Given the description of an element on the screen output the (x, y) to click on. 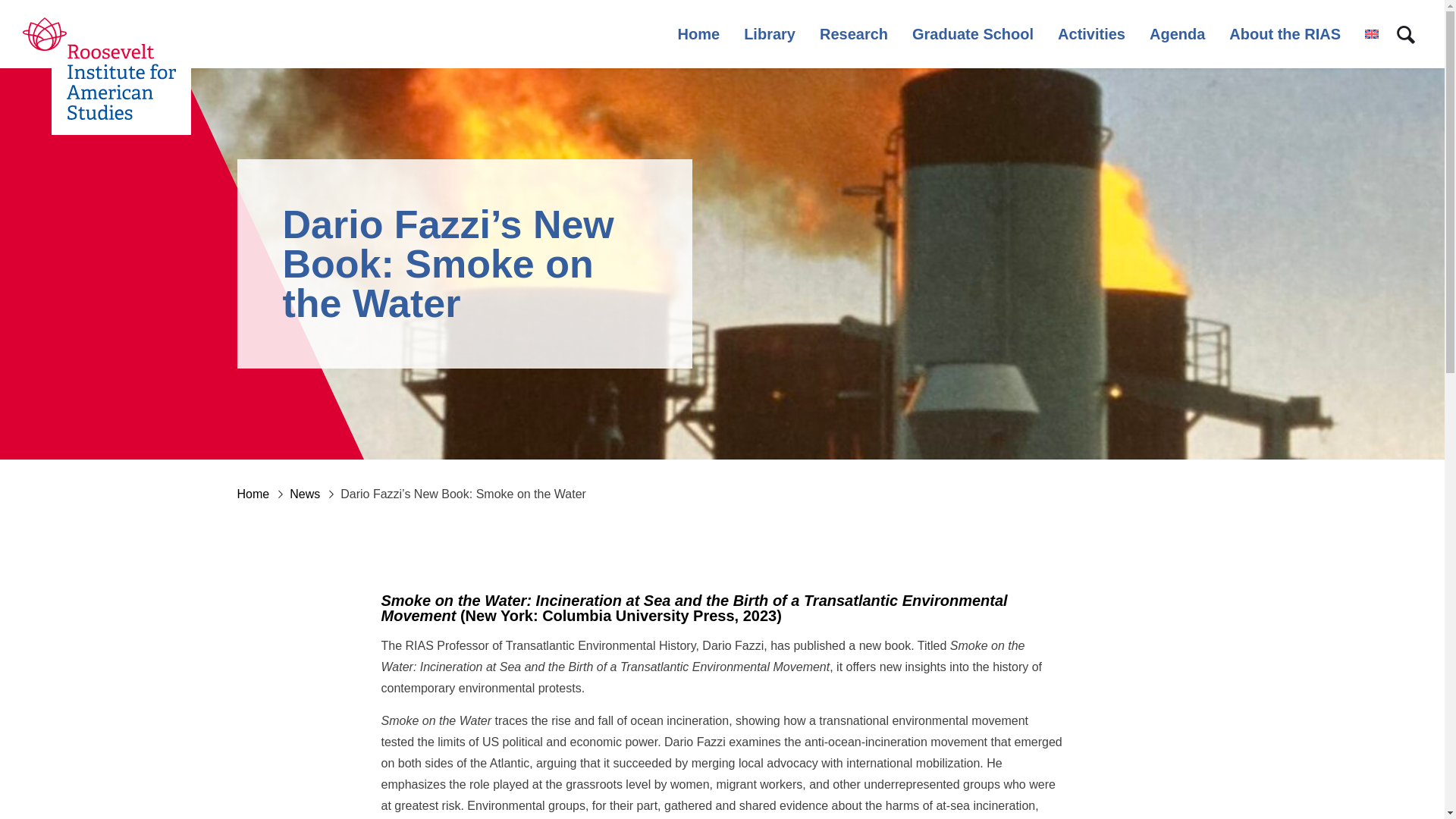
Graduate School (972, 33)
Research (853, 33)
Go to Roosevelt. (262, 493)
About the RIAS (1284, 33)
Go to News. (314, 493)
Activities (1091, 33)
